Given the description of an element on the screen output the (x, y) to click on. 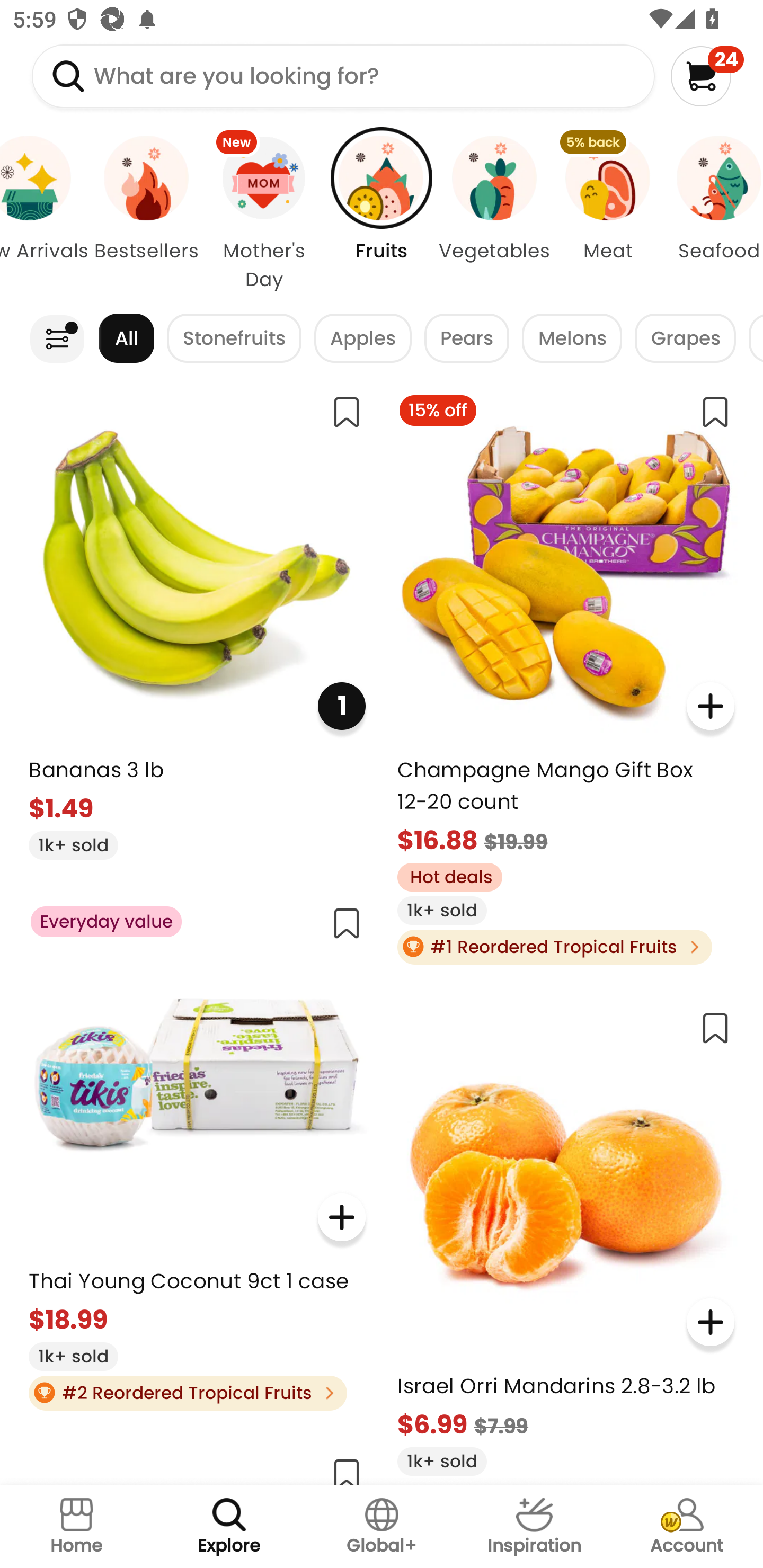
What are you looking for? (343, 75)
24 (706, 75)
New Arrivals (45, 214)
Bestsellers (146, 214)
New Mother's Day (263, 214)
Fruits (381, 214)
Vegetables (494, 214)
5% back Meat (607, 214)
Seafood (713, 214)
All (126, 337)
Stonefruits (234, 337)
Apples (363, 337)
Pears (466, 337)
Melons (571, 337)
Grapes (685, 337)
1 Bananas 3 lb $1.49 1k+ sold (197, 620)
1 (341, 706)
Home (76, 1526)
Explore (228, 1526)
Global+ (381, 1526)
Inspiration (533, 1526)
Account (686, 1526)
